Given the description of an element on the screen output the (x, y) to click on. 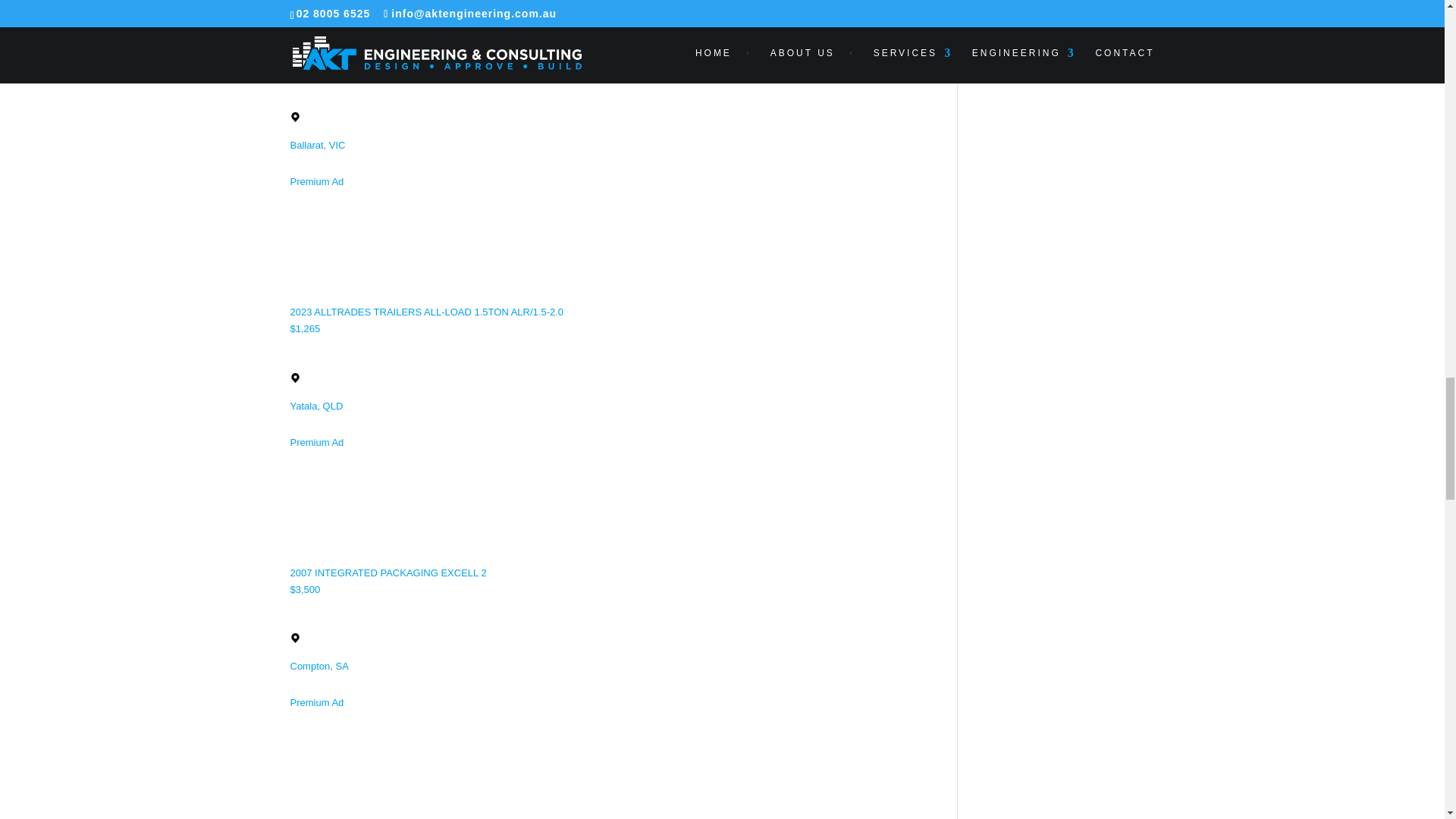
Location marker The shape of a location marker (294, 378)
Location marker The shape of a location marker (294, 117)
Location marker The shape of a location marker (294, 637)
